Given the description of an element on the screen output the (x, y) to click on. 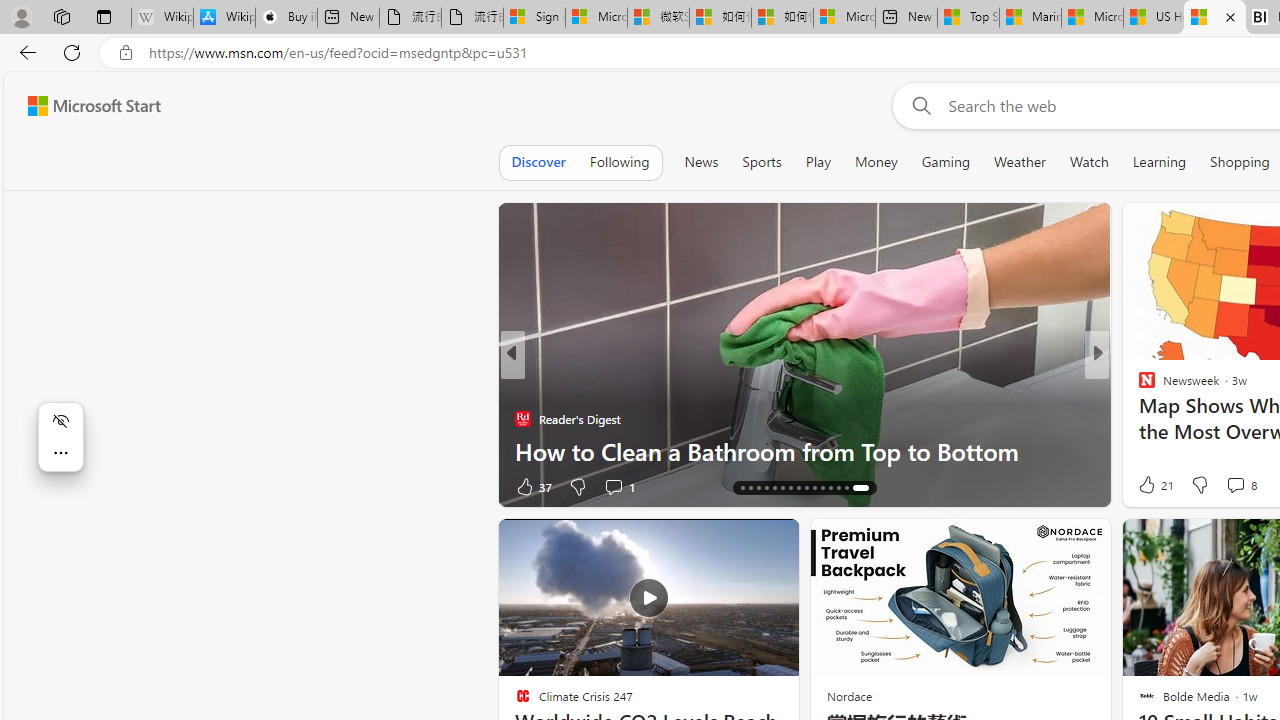
View comments 31 Comment (1229, 485)
View comments 18 Comment (1244, 486)
16 Like (1149, 486)
PsychLove (1138, 386)
Hide menu (60, 420)
15 Like (1149, 486)
The Hill (522, 386)
US Heat Deaths Soared To Record High Last Year (1153, 17)
AutomationID: tab-25 (825, 487)
MSNBC (1138, 386)
Bolde Media (1138, 386)
